Given the description of an element on the screen output the (x, y) to click on. 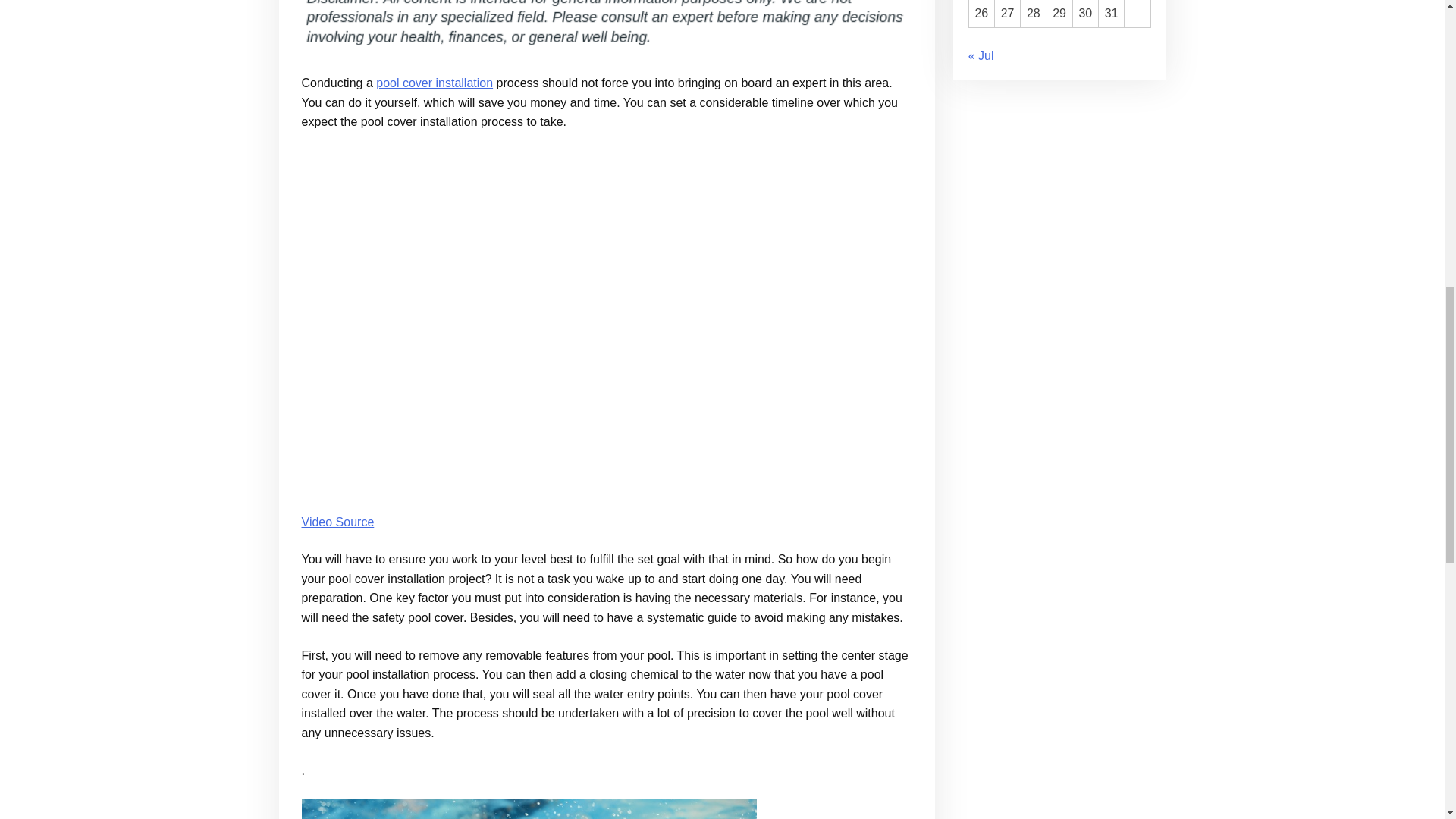
Video Source (337, 521)
pool cover installation (434, 82)
